Given the description of an element on the screen output the (x, y) to click on. 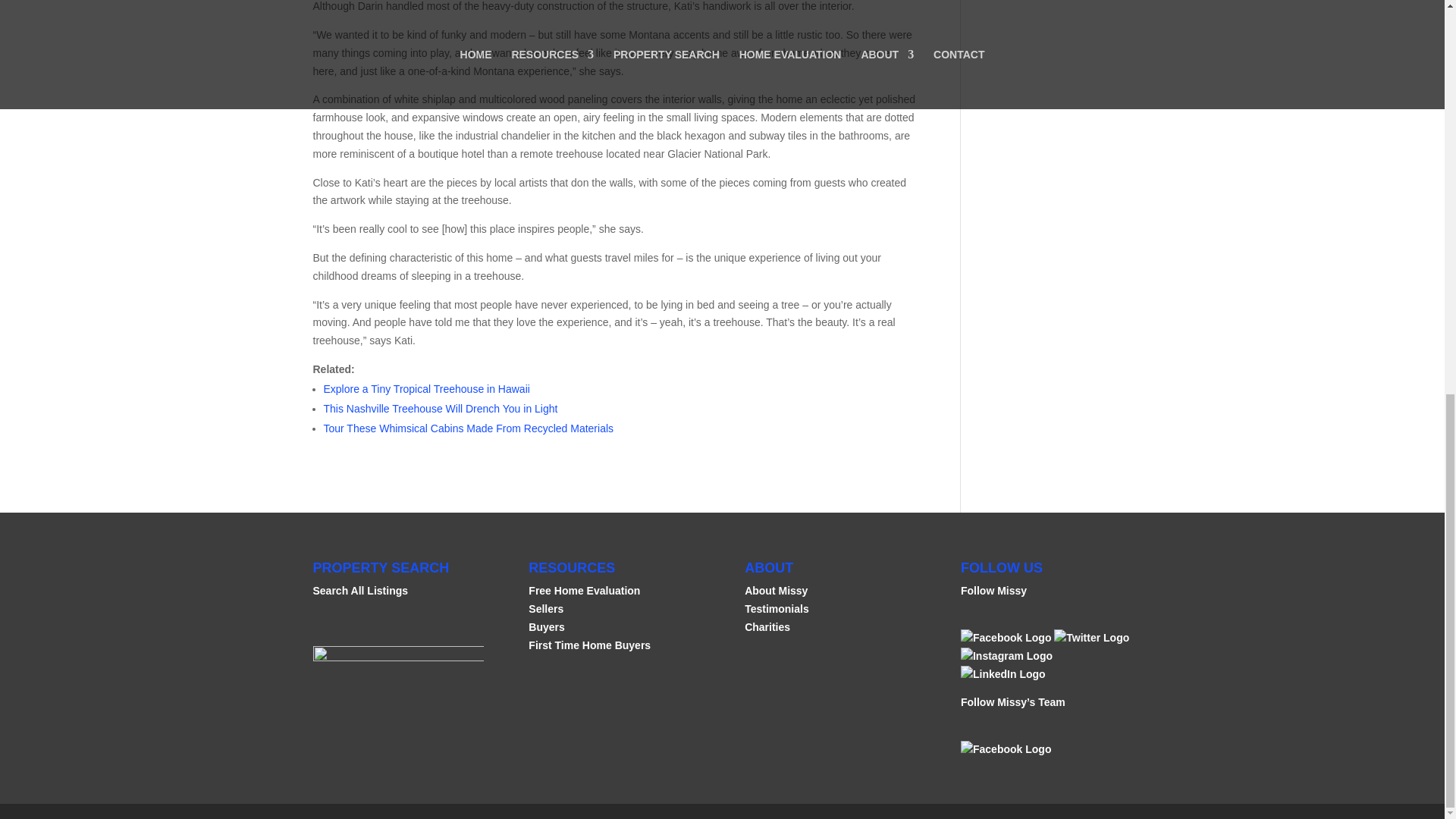
Buyers (546, 626)
Explore a Tiny Tropical Treehouse in Hawaii (426, 388)
Tour These Whimsical Cabins Made From Recycled Materials (467, 428)
Sellers (545, 608)
Search All Listings (360, 590)
Charities (767, 626)
This Nashville Treehouse Will Drench You in Light (440, 408)
Testimonials (776, 608)
First Time Home Buyers (589, 645)
Free Home Evaluation (584, 590)
About Missy (776, 590)
